Given the description of an element on the screen output the (x, y) to click on. 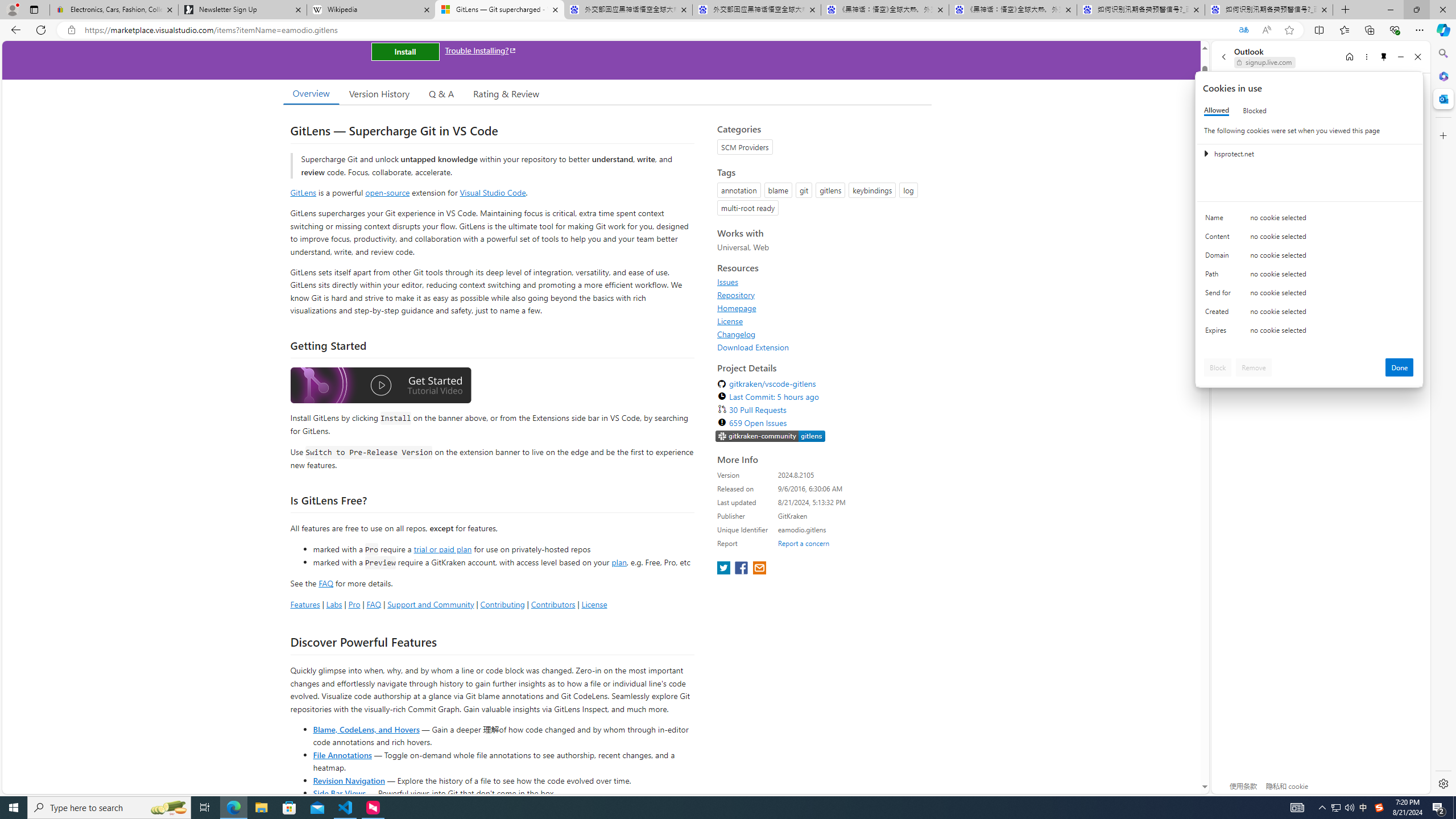
Remove (1253, 367)
no cookie selected (1331, 332)
Allowed (1216, 110)
Created (1219, 313)
Content (1219, 239)
Name (1219, 220)
Domain (1219, 257)
Class: c0153 c0157 c0154 (1309, 220)
Send for (1219, 295)
Block (1217, 367)
Blocked (1255, 110)
Path (1219, 276)
Done (1399, 367)
Class: c0153 c0157 (1309, 332)
Expires (1219, 332)
